Given the description of an element on the screen output the (x, y) to click on. 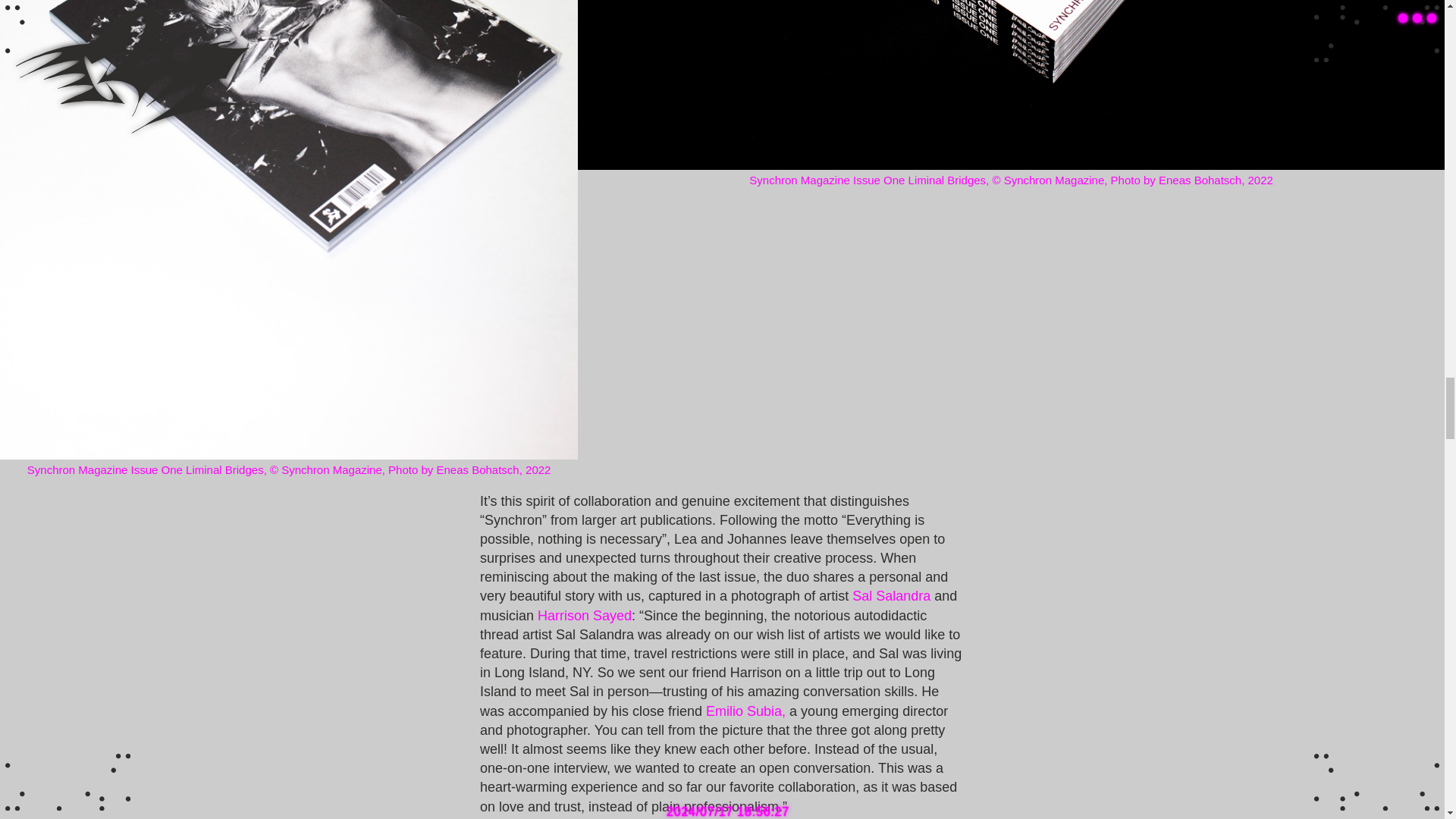
Emilio Subia, (746, 711)
Sayed (611, 615)
Sal Salandra (890, 595)
Harrison (564, 615)
